Given the description of an element on the screen output the (x, y) to click on. 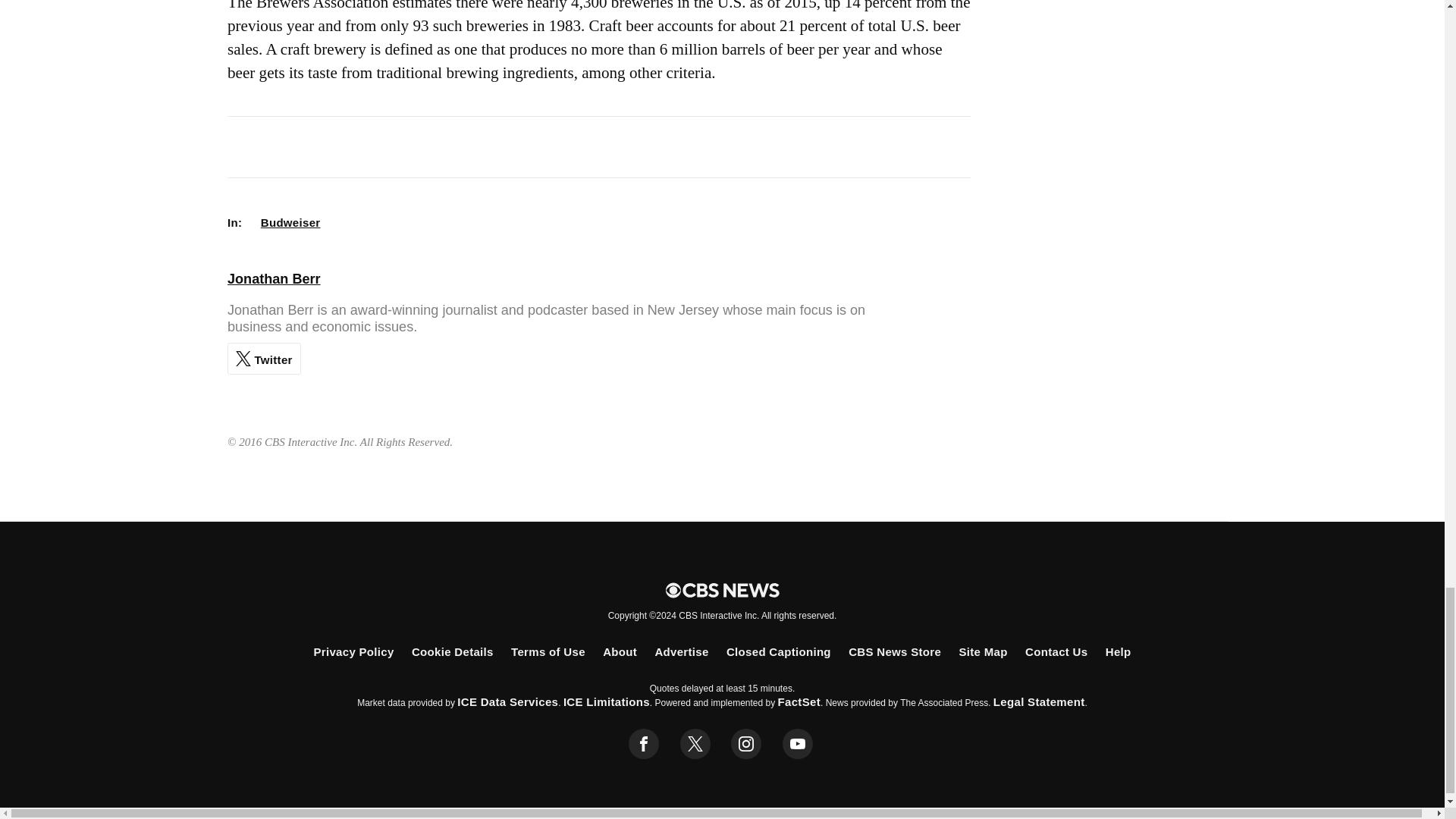
instagram (745, 743)
twitter (694, 743)
facebook (643, 743)
youtube (797, 743)
